Given the description of an element on the screen output the (x, y) to click on. 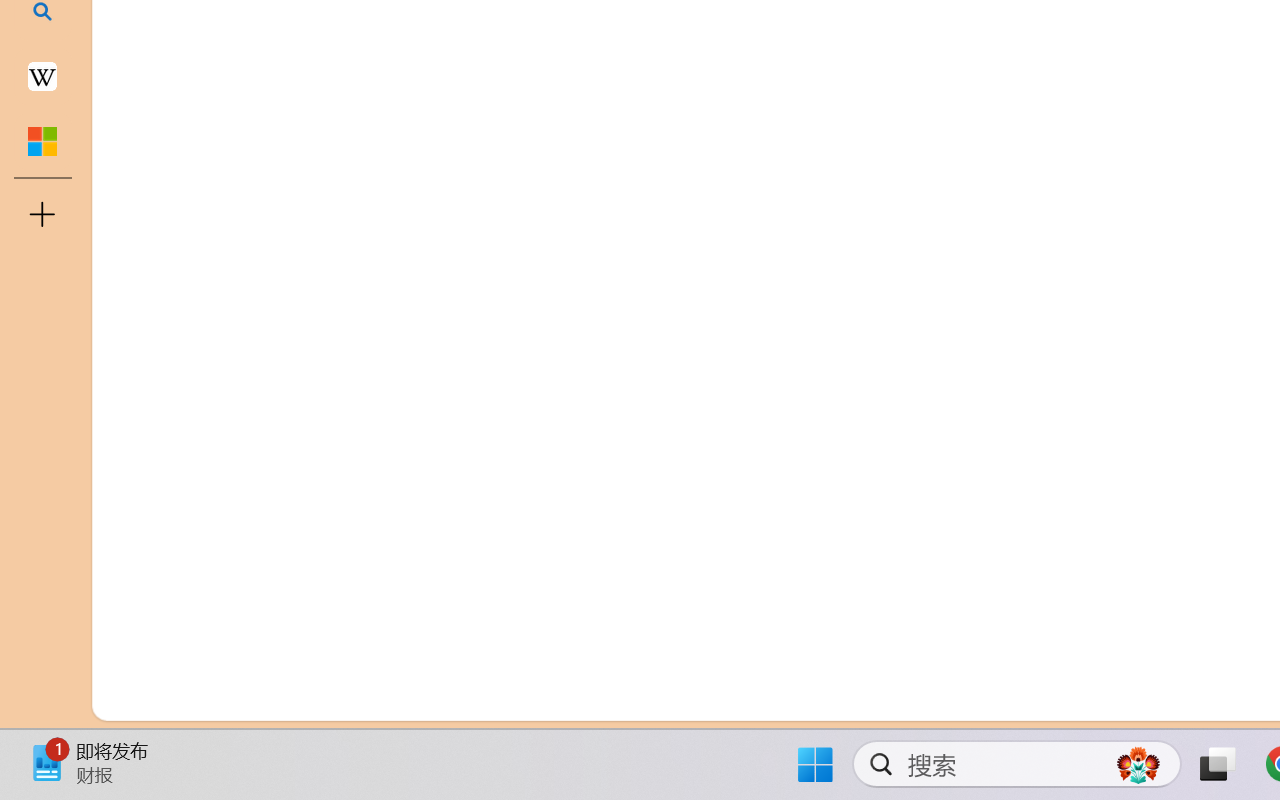
TextBox 61 (1074, 57)
TextBox 7 (1069, 37)
